Given the description of an element on the screen output the (x, y) to click on. 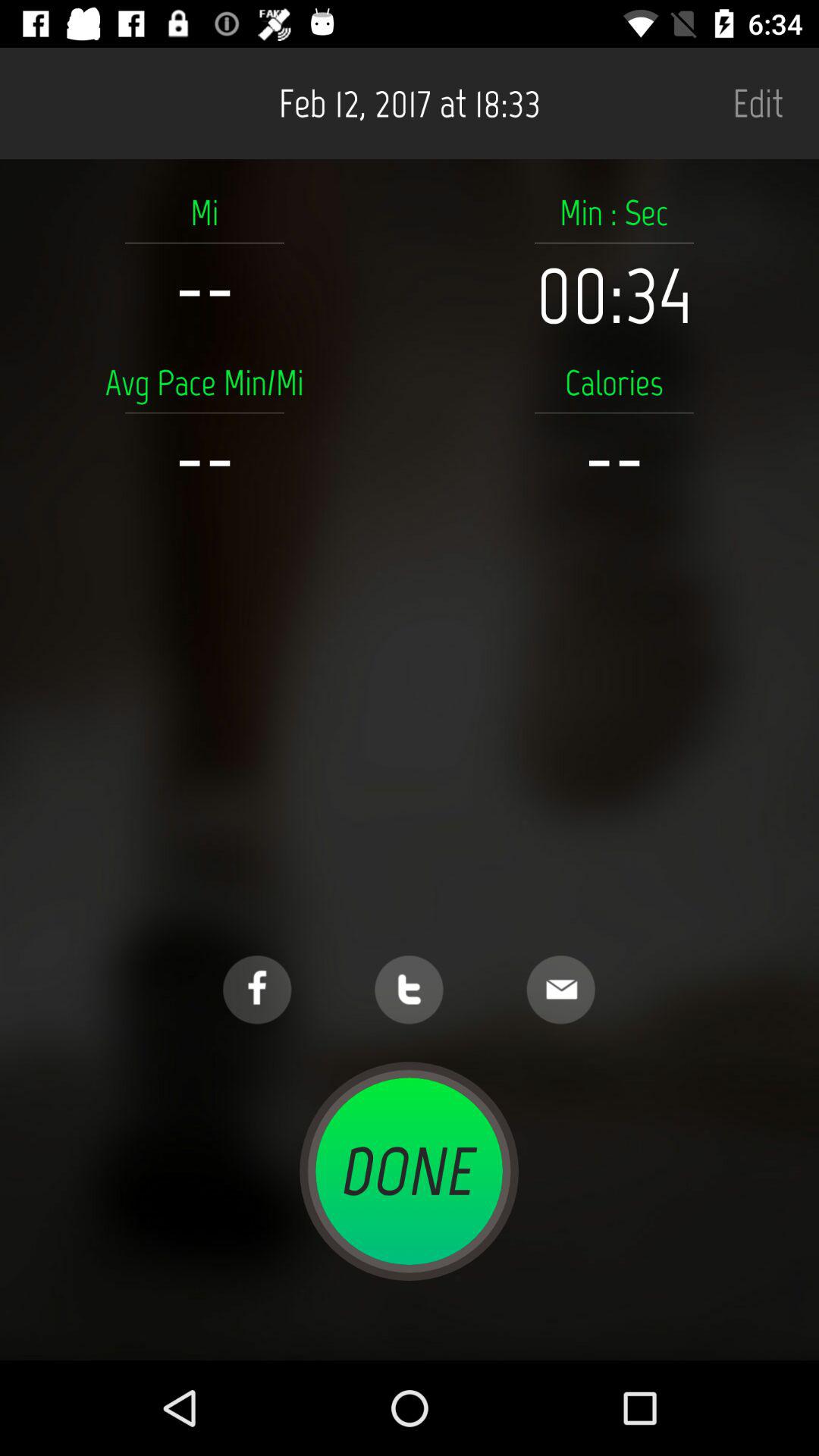
click edit icon (757, 103)
